Given the description of an element on the screen output the (x, y) to click on. 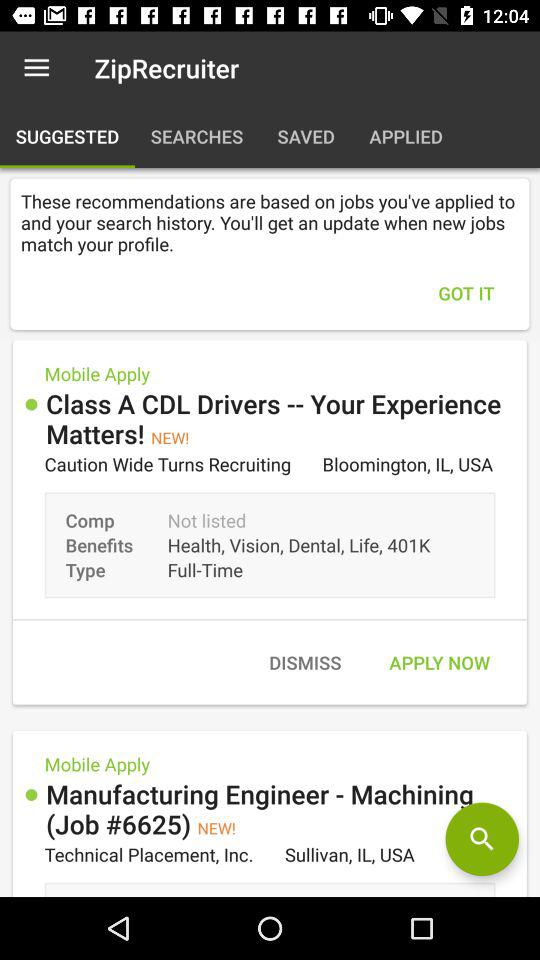
click search icon (482, 839)
